Given the description of an element on the screen output the (x, y) to click on. 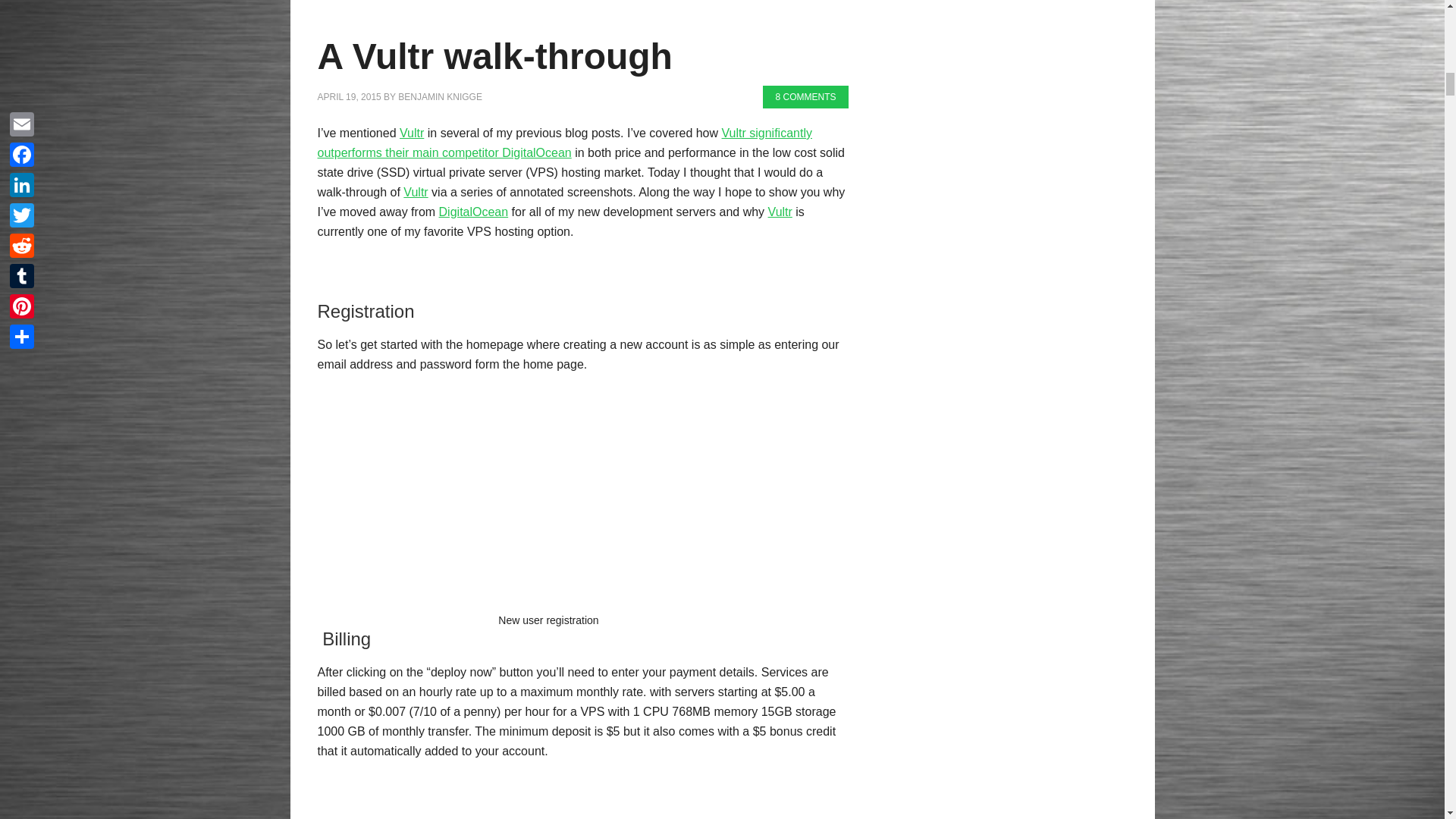
BENJAMIN KNIGGE (439, 96)
8 COMMENTS (804, 96)
VULTR new user registration (544, 499)
Vultr VPS hosting (780, 211)
A Vultr walk-through (494, 56)
DigitalOcean virtual server hosting. (473, 211)
Vultr VPS hosting (415, 192)
Vultr VPS hosting (410, 132)
